Given the description of an element on the screen output the (x, y) to click on. 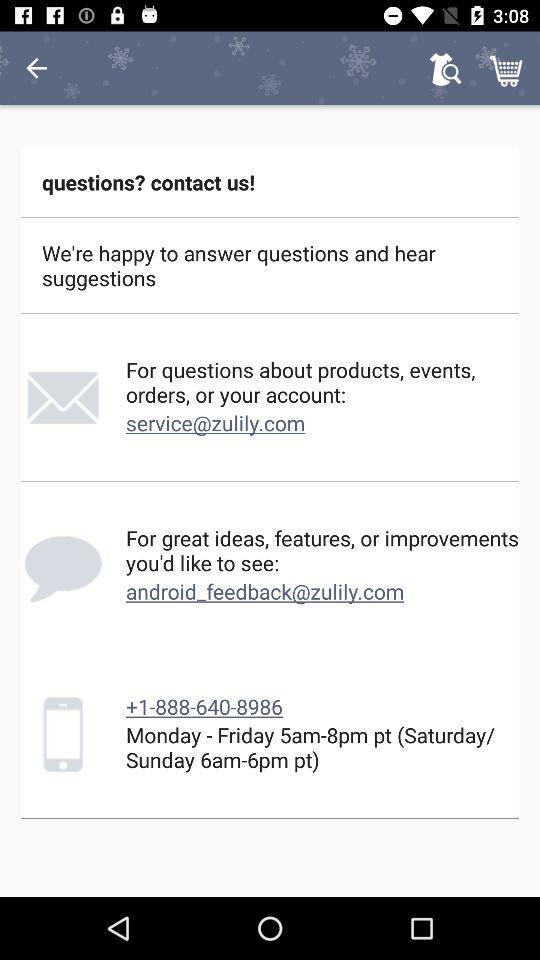
open the icon below for great ideas (265, 591)
